Given the description of an element on the screen output the (x, y) to click on. 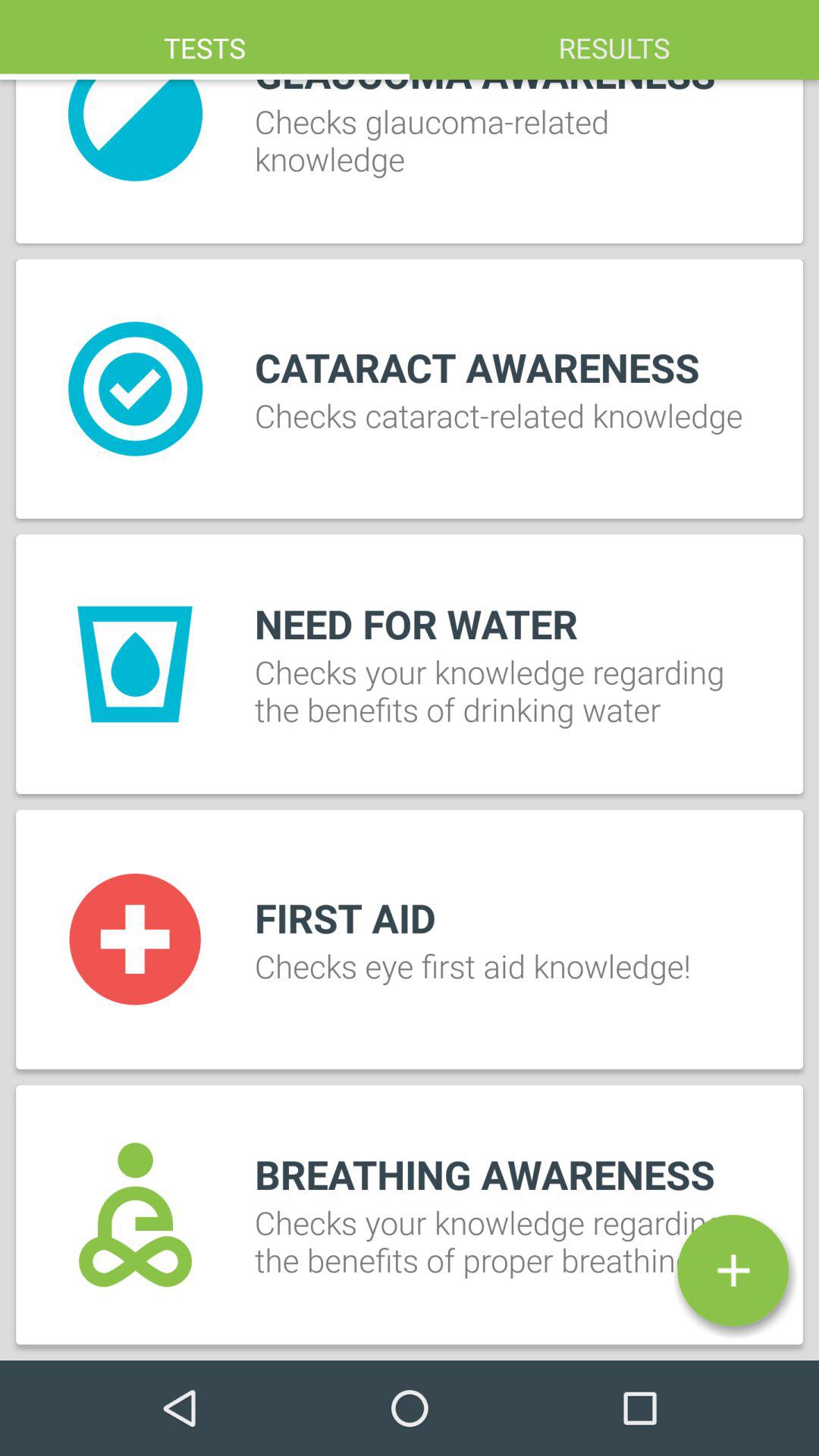
launch the item above checks glaucoma related (204, 39)
